Given the description of an element on the screen output the (x, y) to click on. 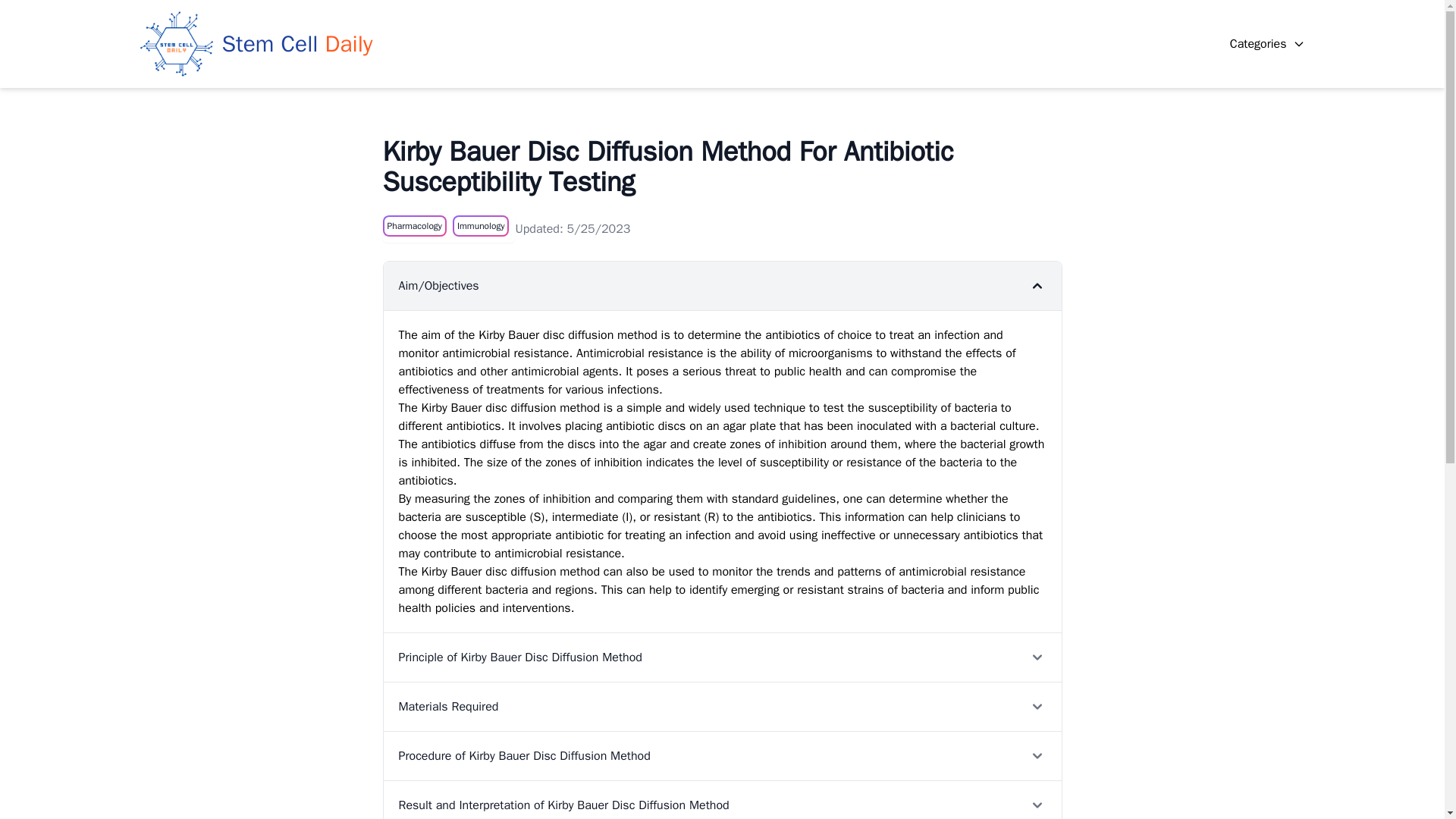
Stem Cell Daily (255, 43)
Principle of Kirby Bauer Disc Diffusion Method (722, 656)
Pharmacology (413, 225)
Immunology (480, 225)
Categories (1267, 44)
Procedure of Kirby Bauer Disc Diffusion Method (722, 755)
Pharmacology (414, 225)
Immunology (481, 225)
Materials Required (722, 706)
